Given the description of an element on the screen output the (x, y) to click on. 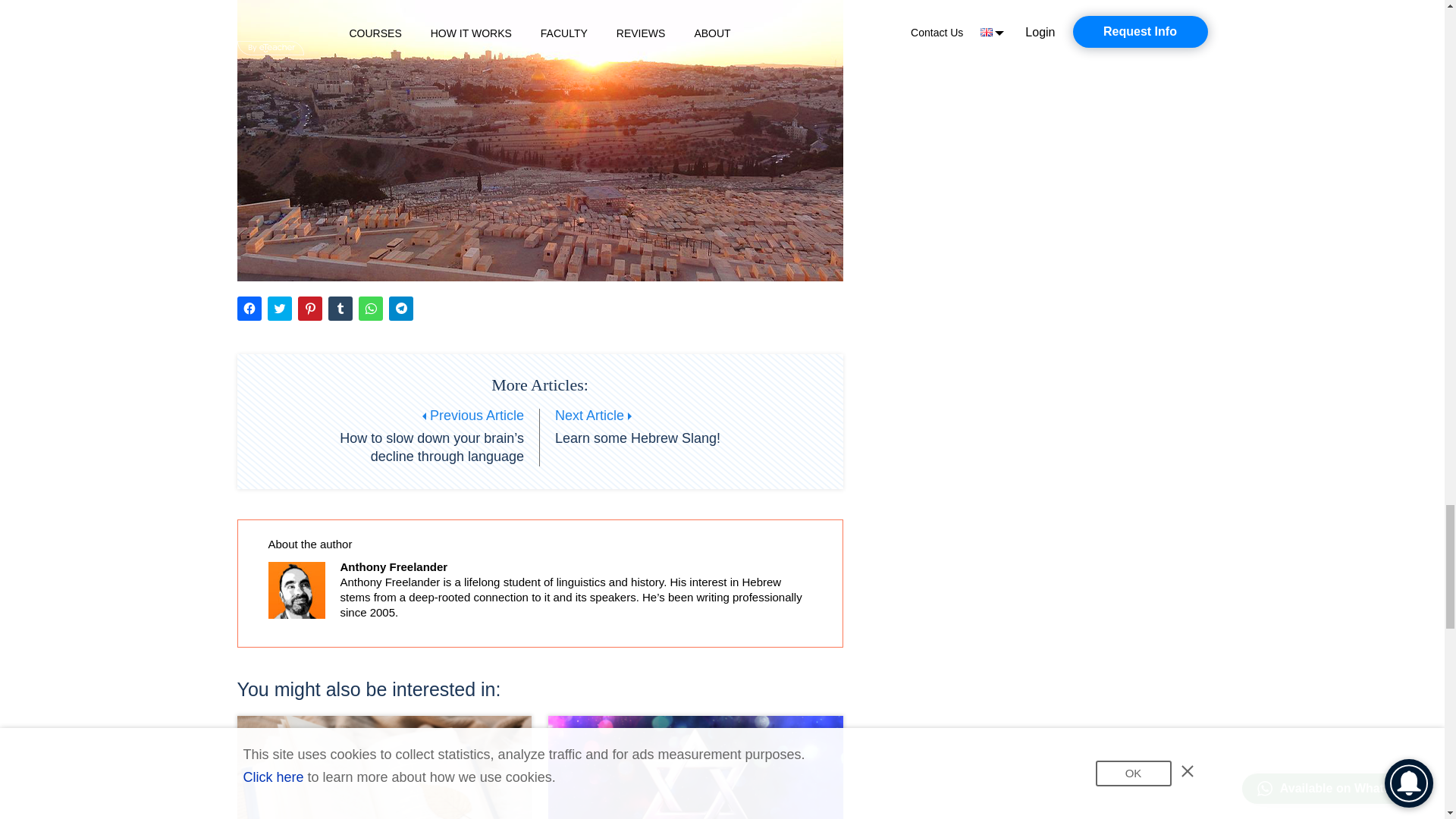
Click to share on Pinterest (309, 308)
Interesting Facts About The Star Of David (695, 767)
Click to share on Twitter (278, 308)
Click to share on Facebook (247, 308)
Click to share on Tumblr (339, 308)
Click to share on WhatsApp (369, 308)
Click to share on Telegram (400, 308)
